Given the description of an element on the screen output the (x, y) to click on. 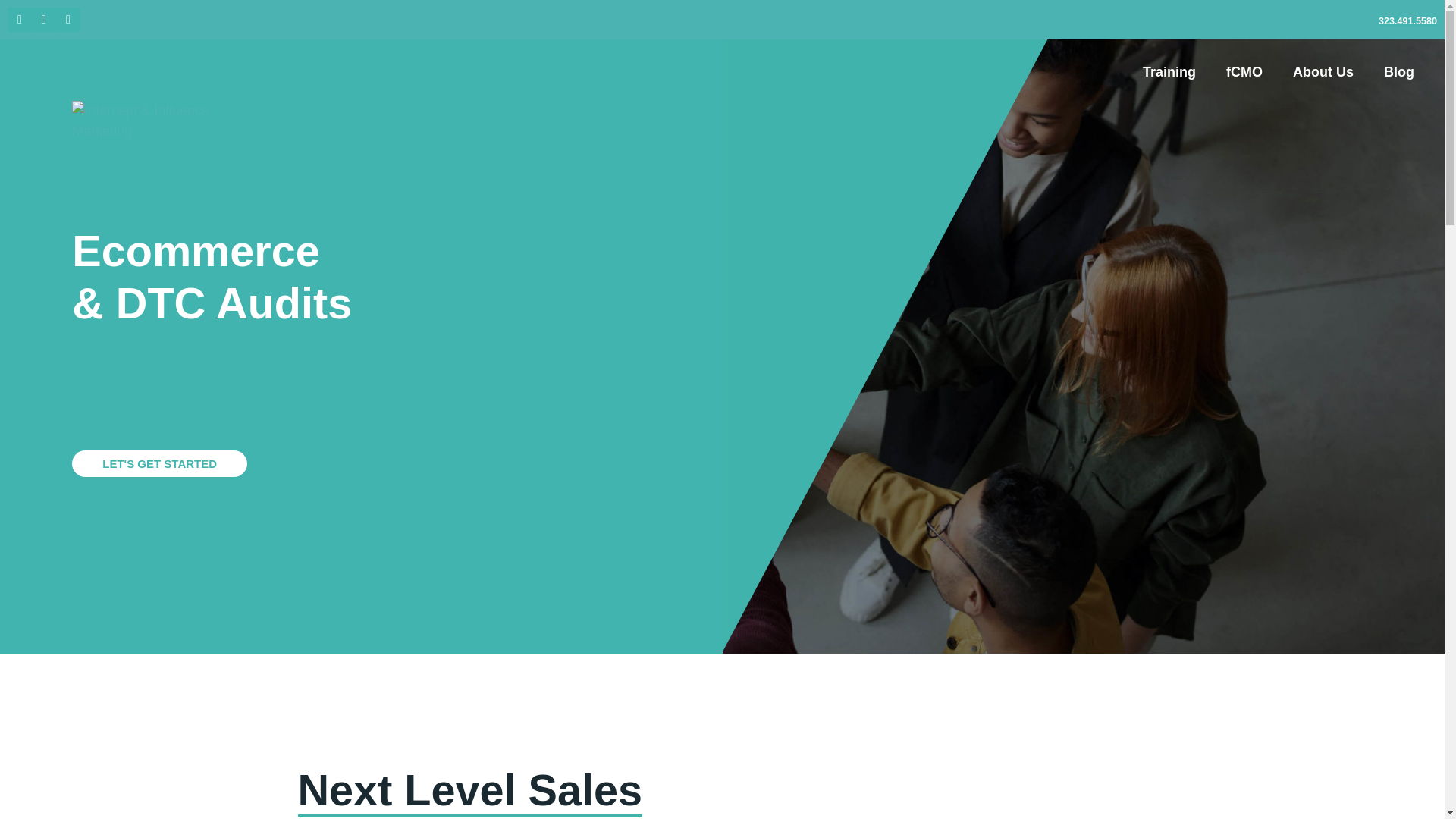
intercept-and-influence-logo-white (166, 120)
Training (1168, 71)
323.491.5580 (1407, 21)
fCMO (1244, 71)
LET'S GET STARTED (159, 463)
Blog (1398, 71)
About Us (1323, 71)
